Given the description of an element on the screen output the (x, y) to click on. 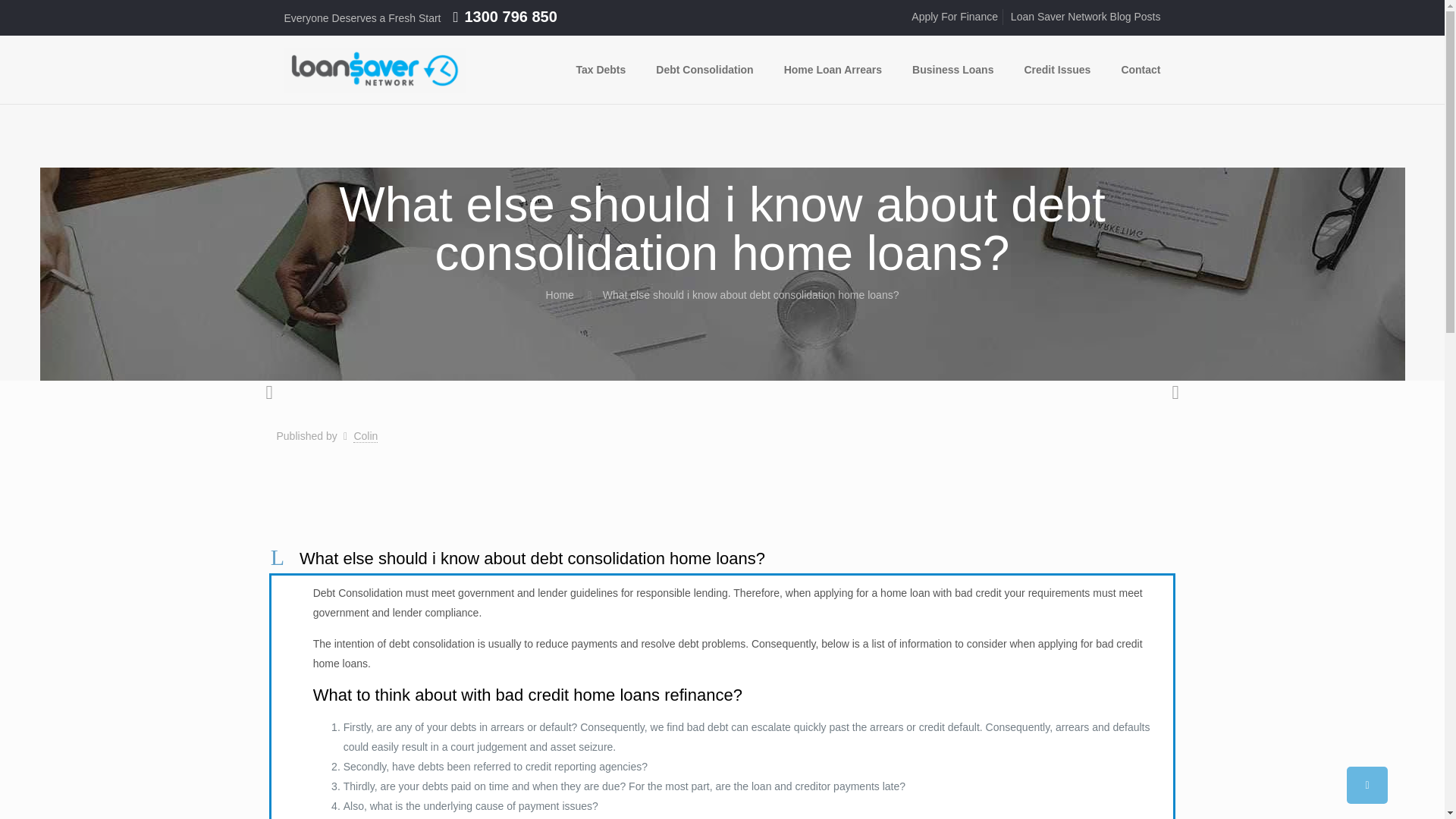
Credit Issues (1057, 70)
Tax Debts (600, 70)
Debt Consolidation (704, 70)
Home Loan Arrears (832, 70)
Apply For Finance (954, 16)
Loan Saver Network Blog Posts (1085, 16)
Business Loans (952, 70)
1300 796 850 (510, 16)
